Given the description of an element on the screen output the (x, y) to click on. 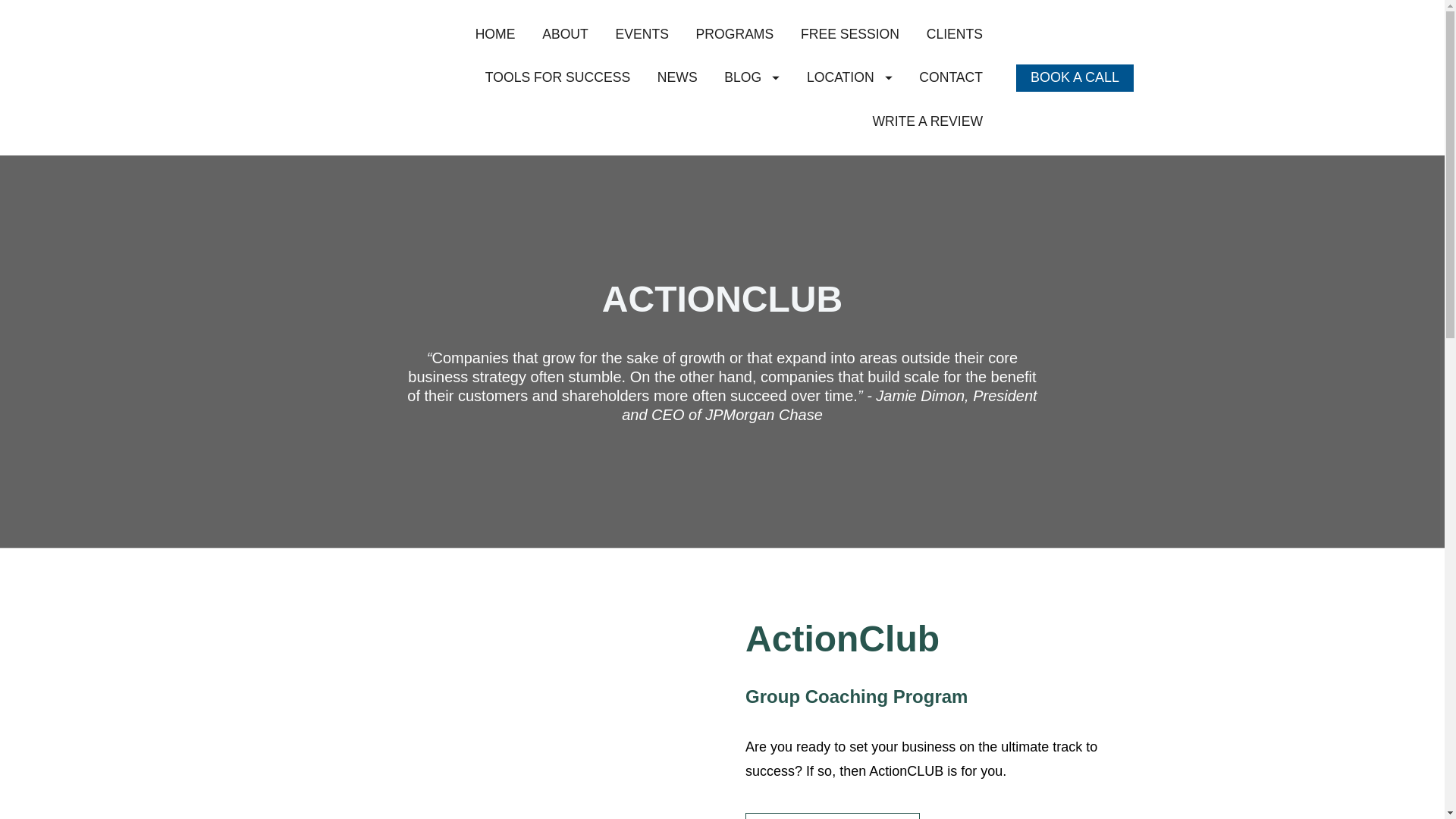
ABOUT (564, 34)
CLIENTS (954, 34)
WRITE A REVIEW (927, 121)
NEWS (677, 77)
HOME (495, 34)
FREE SESSION (849, 34)
BLOG (750, 77)
BOOK A CALL (1075, 77)
EVENTS (641, 34)
CONTACT (950, 77)
TOOLS FOR SUCCESS (557, 77)
PROGRAMS (734, 34)
GET IN TOUCH (832, 816)
LOCATION (849, 77)
